Given the description of an element on the screen output the (x, y) to click on. 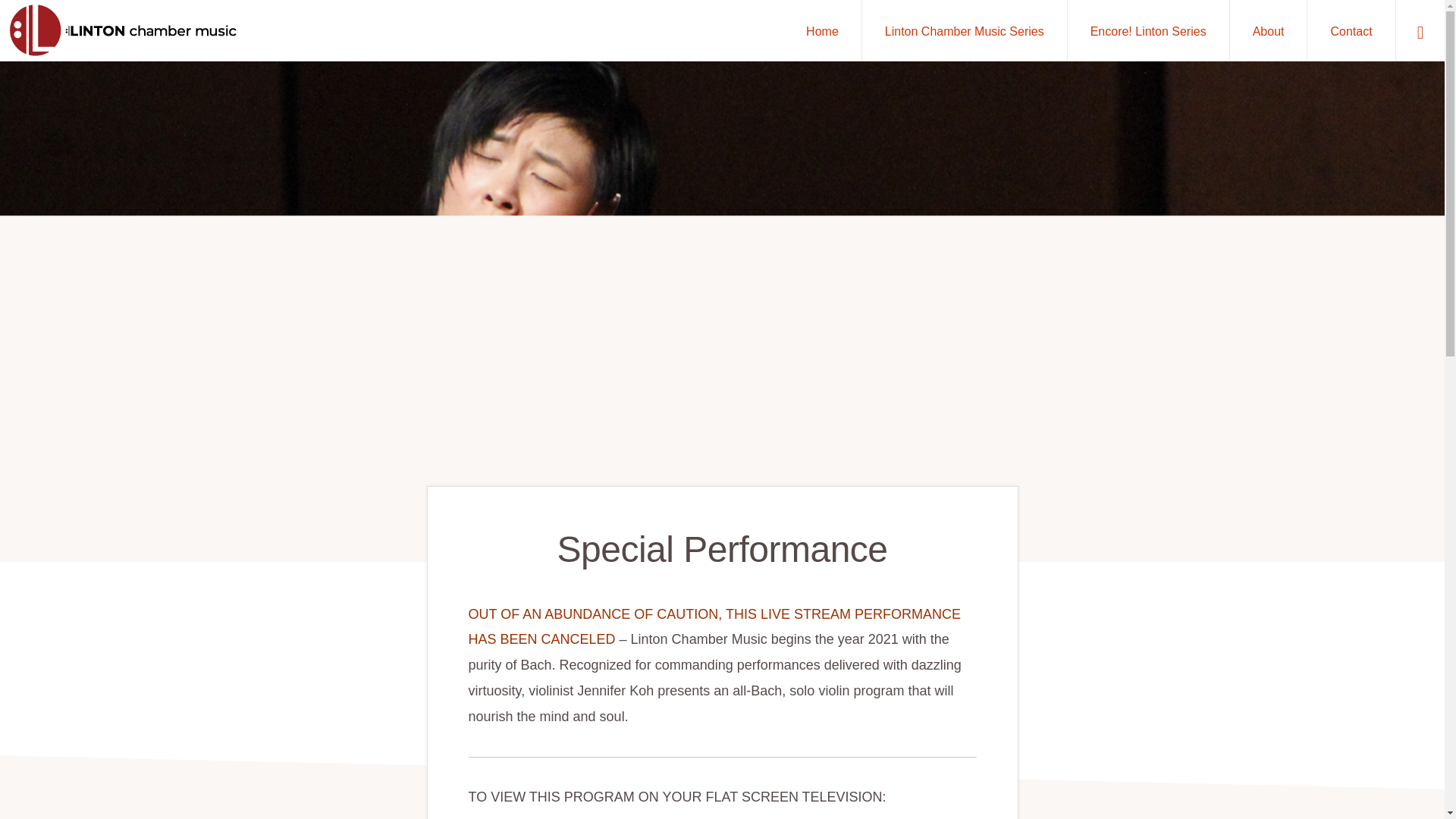
ABOUT (284, 775)
Encore! Linton Series (1147, 30)
TICKETS (345, 775)
DIRECTIONS (489, 775)
About (1268, 30)
SUPPORT (413, 775)
Linton Chamber Music Series (964, 30)
CONTACT US (892, 764)
CONTACT (565, 775)
